Given the description of an element on the screen output the (x, y) to click on. 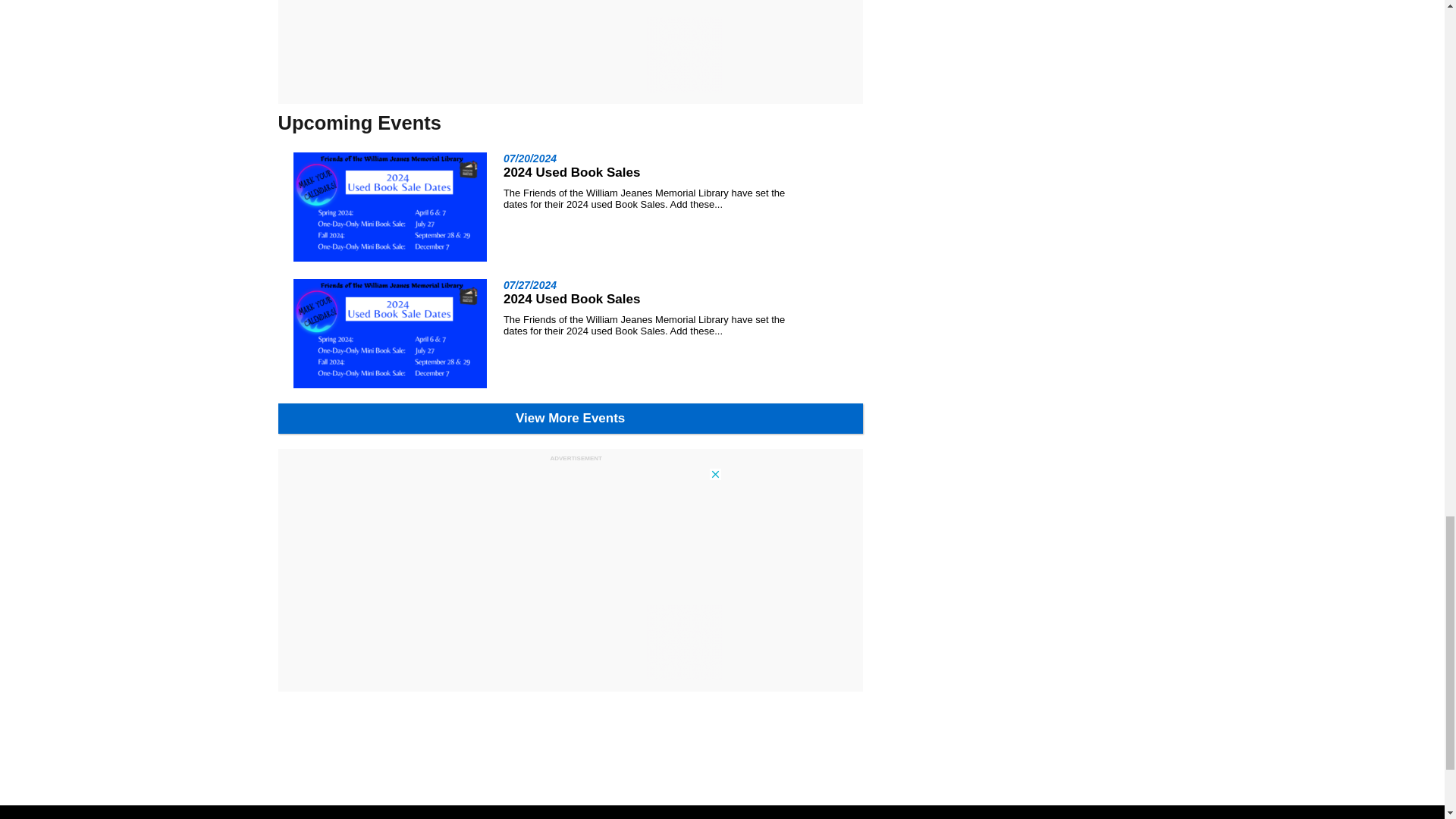
3rd party ad content (570, 49)
3rd party ad content (570, 575)
